Given the description of an element on the screen output the (x, y) to click on. 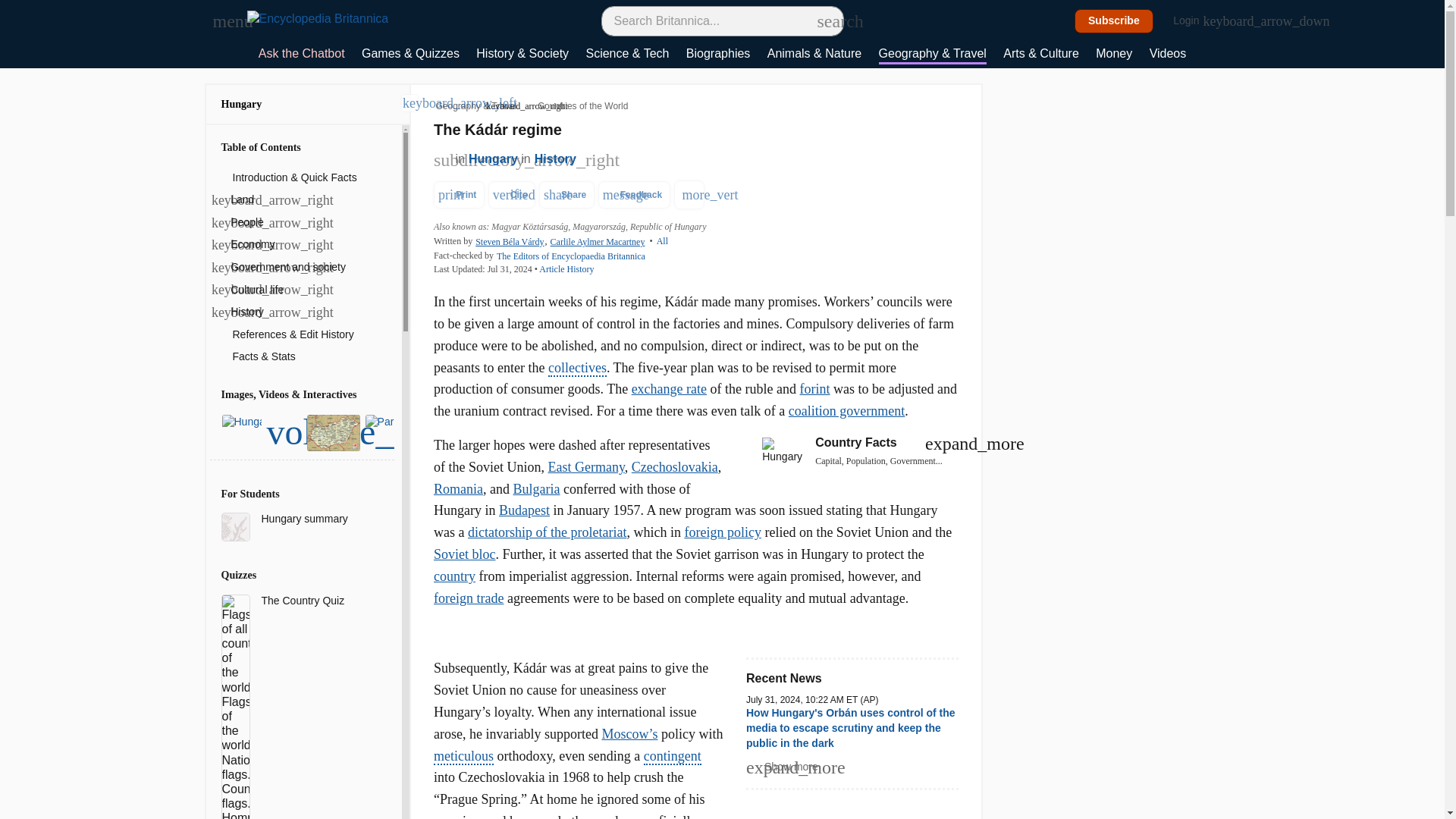
Click here to search (825, 20)
Login (1194, 20)
Subscribe (1114, 21)
